Given the description of an element on the screen output the (x, y) to click on. 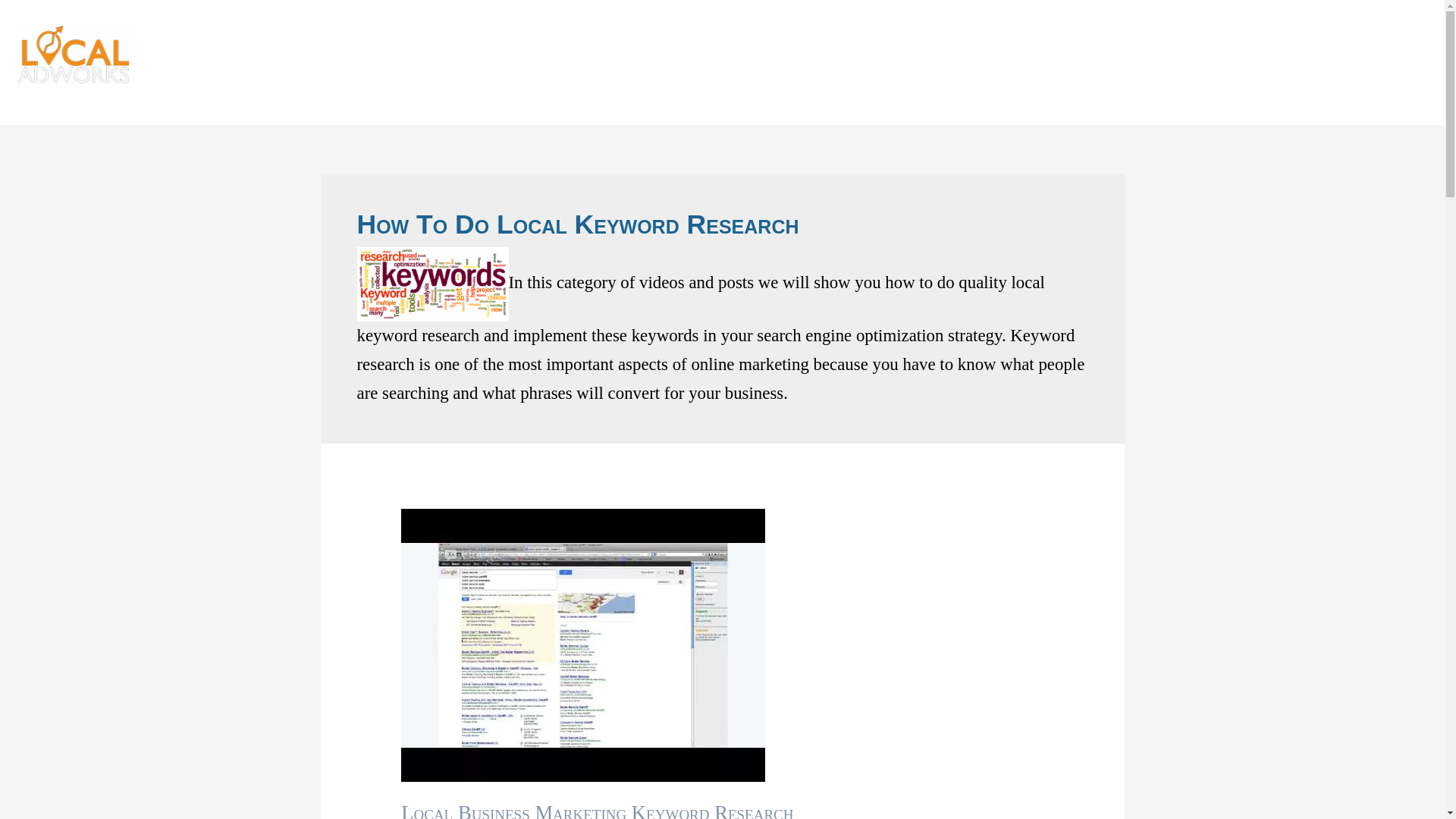
Our SEO Services (957, 57)
Local Keyword Research (432, 284)
Niches (1132, 57)
Our SEO Tools (1057, 57)
